Given the description of an element on the screen output the (x, y) to click on. 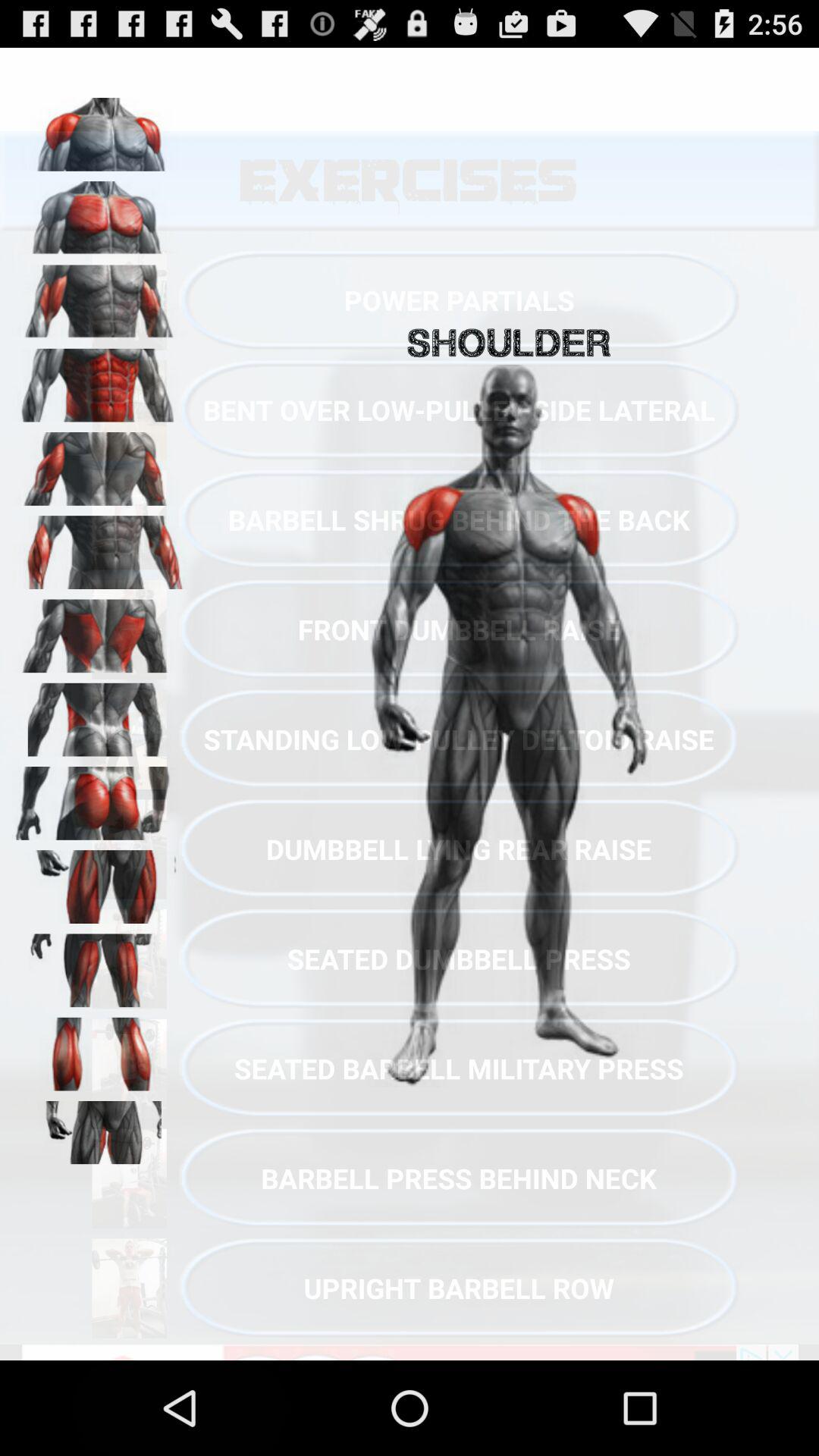
go to forearm exercises (99, 547)
